Given the description of an element on the screen output the (x, y) to click on. 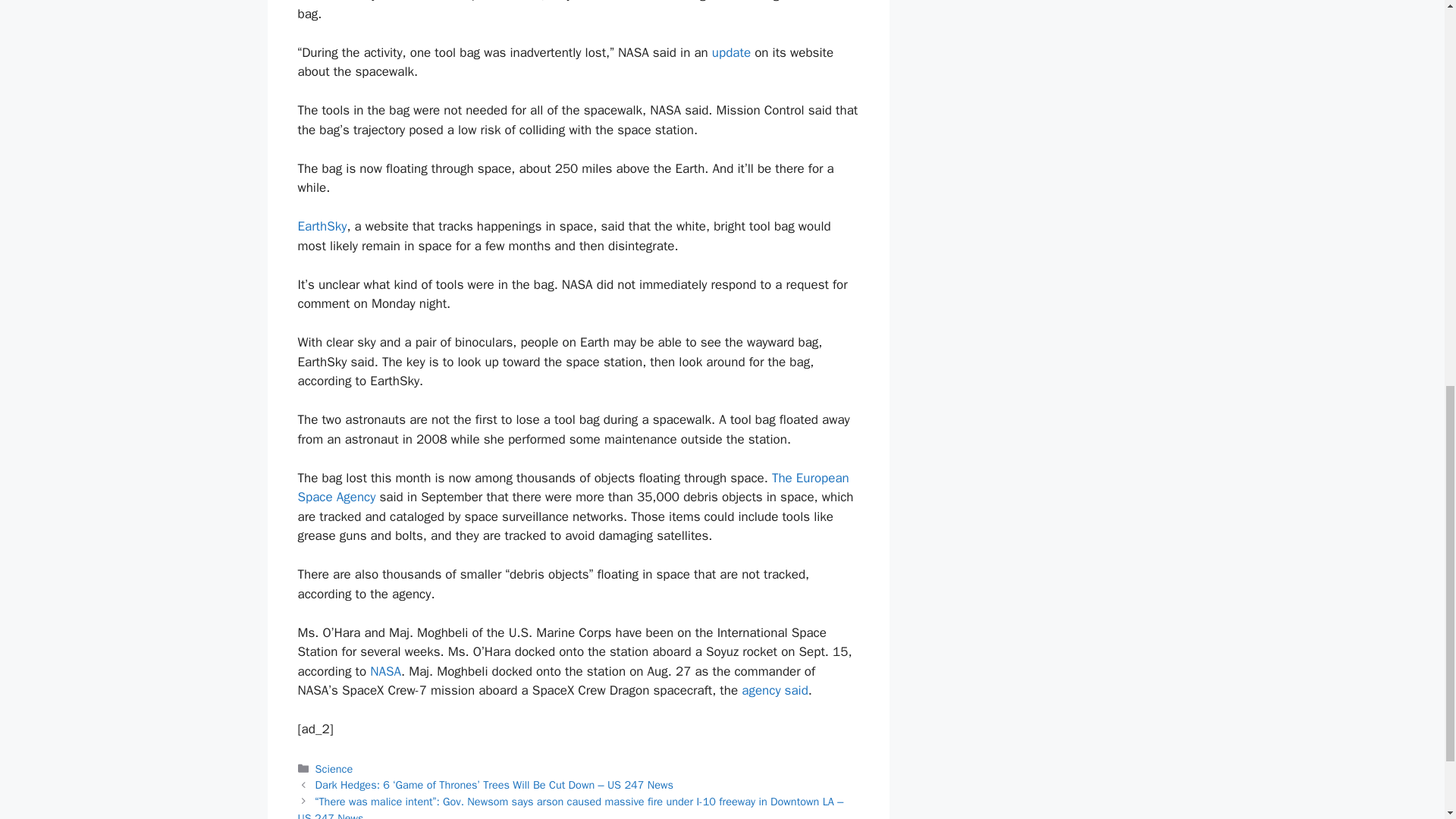
The European Space Agency (572, 488)
Science (334, 768)
agency said (774, 690)
EarthSky (321, 226)
NASA (385, 671)
update (731, 52)
